Given the description of an element on the screen output the (x, y) to click on. 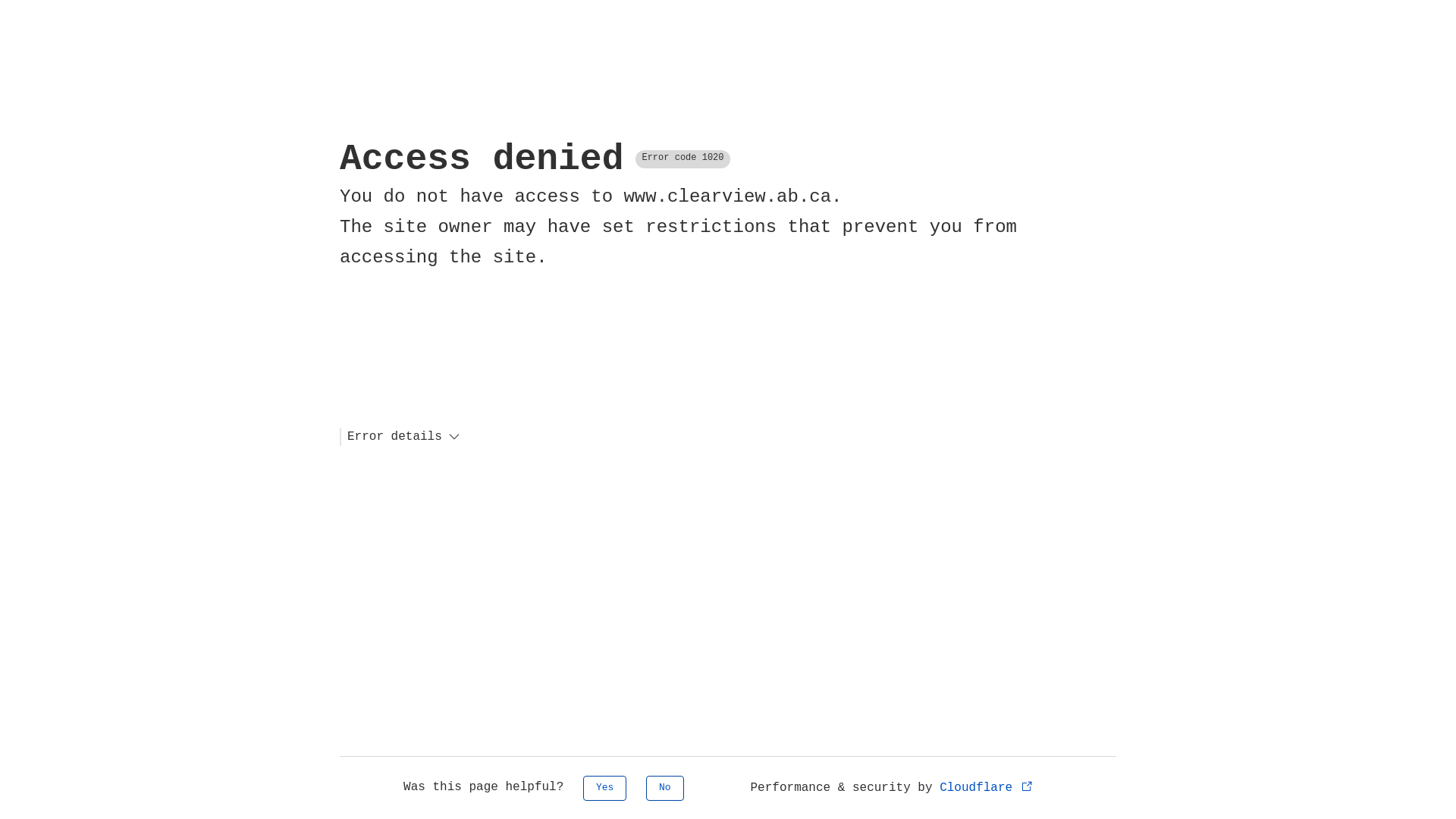
No Element type: text (665, 787)
Opens in new tab Element type: hover (1027, 785)
Yes Element type: text (604, 787)
Cloudflare Element type: text (986, 787)
